Given the description of an element on the screen output the (x, y) to click on. 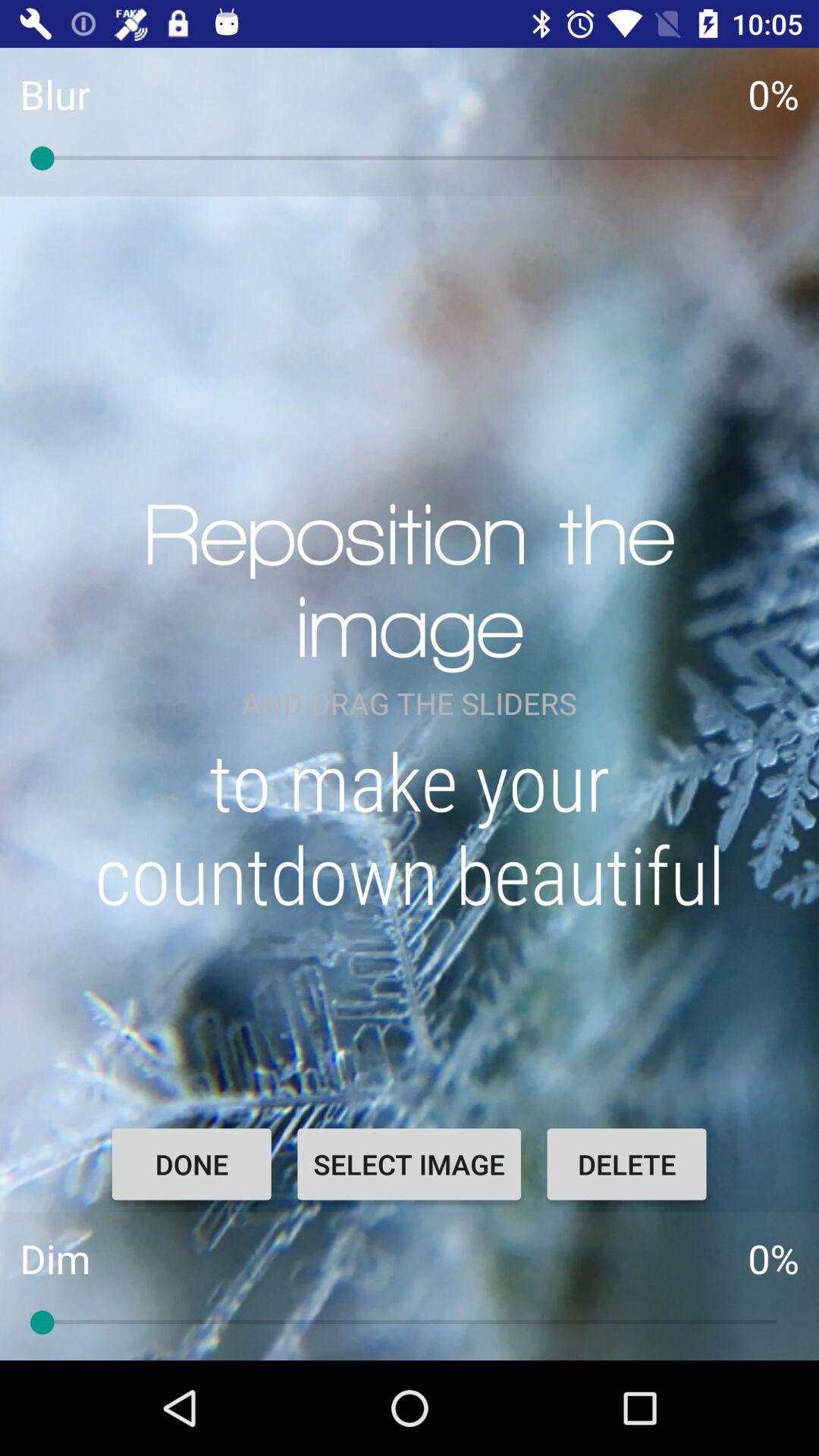
choose the item next to select image (191, 1164)
